Given the description of an element on the screen output the (x, y) to click on. 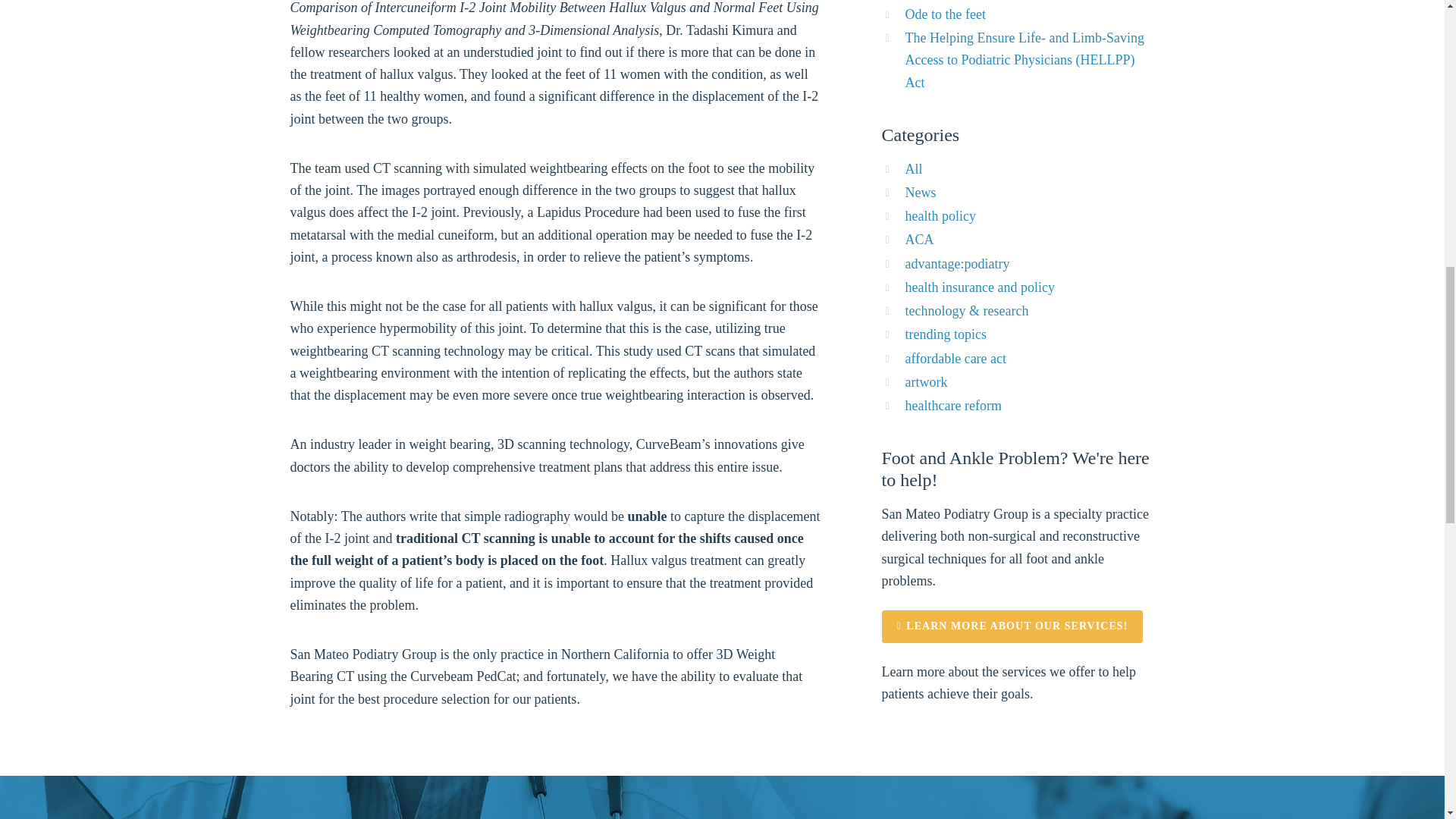
ACA (919, 239)
Ode to the feet (945, 14)
trending topics (946, 334)
learn more about our services! (1012, 626)
News (920, 192)
advantage:podiatry (957, 263)
health policy (940, 215)
affordable care act (956, 358)
All (914, 168)
healthcare reform (953, 405)
health insurance and policy (979, 287)
artwork (926, 381)
LEARN MORE ABOUT OUR SERVICES! (1012, 626)
